Given the description of an element on the screen output the (x, y) to click on. 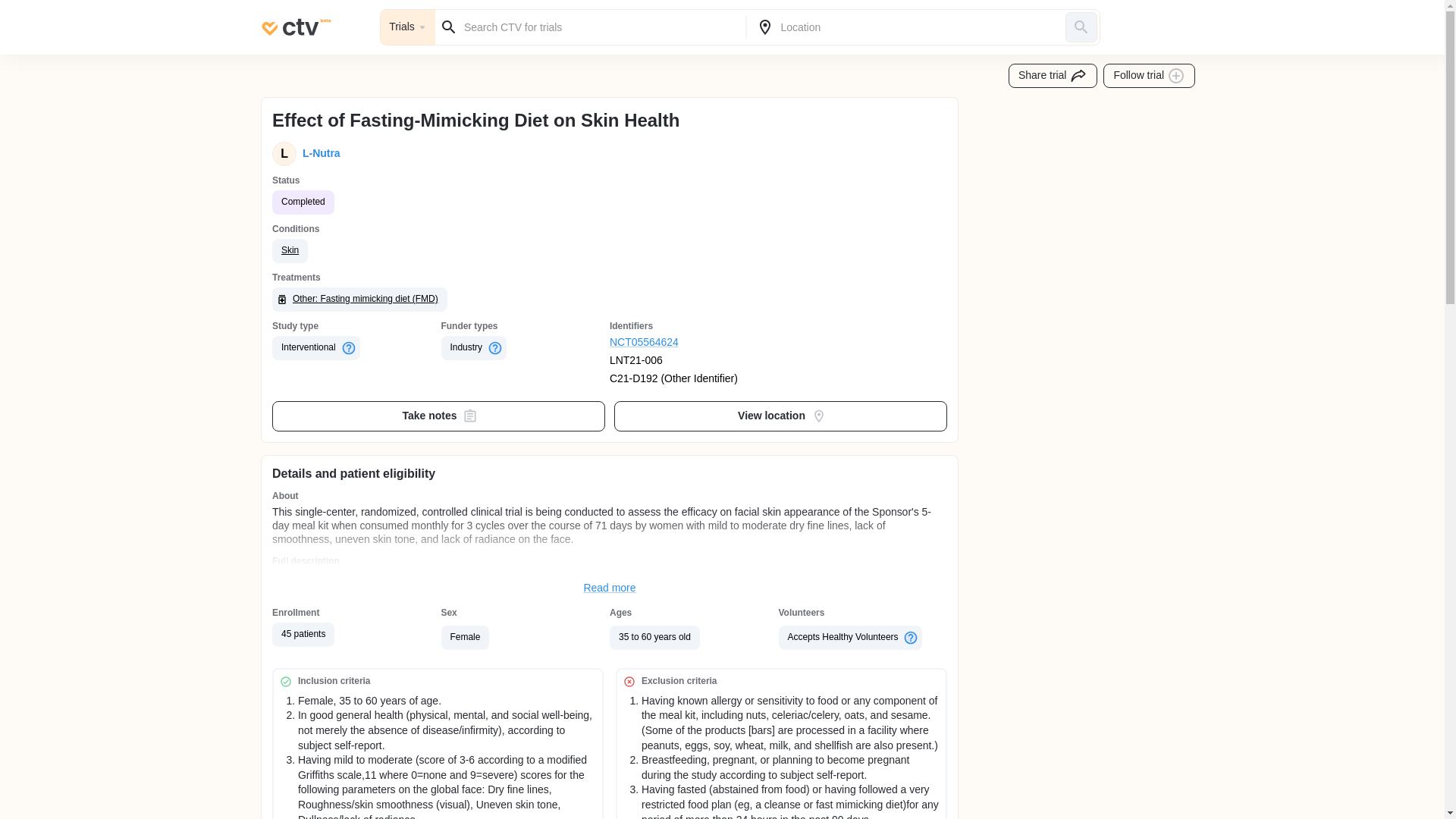
Read more (609, 588)
View location (780, 416)
NCT05564624 (694, 342)
L-Nutra (318, 153)
Share trial (1053, 75)
Trials (407, 27)
Follow trial (1149, 75)
Take notes (438, 416)
